Given the description of an element on the screen output the (x, y) to click on. 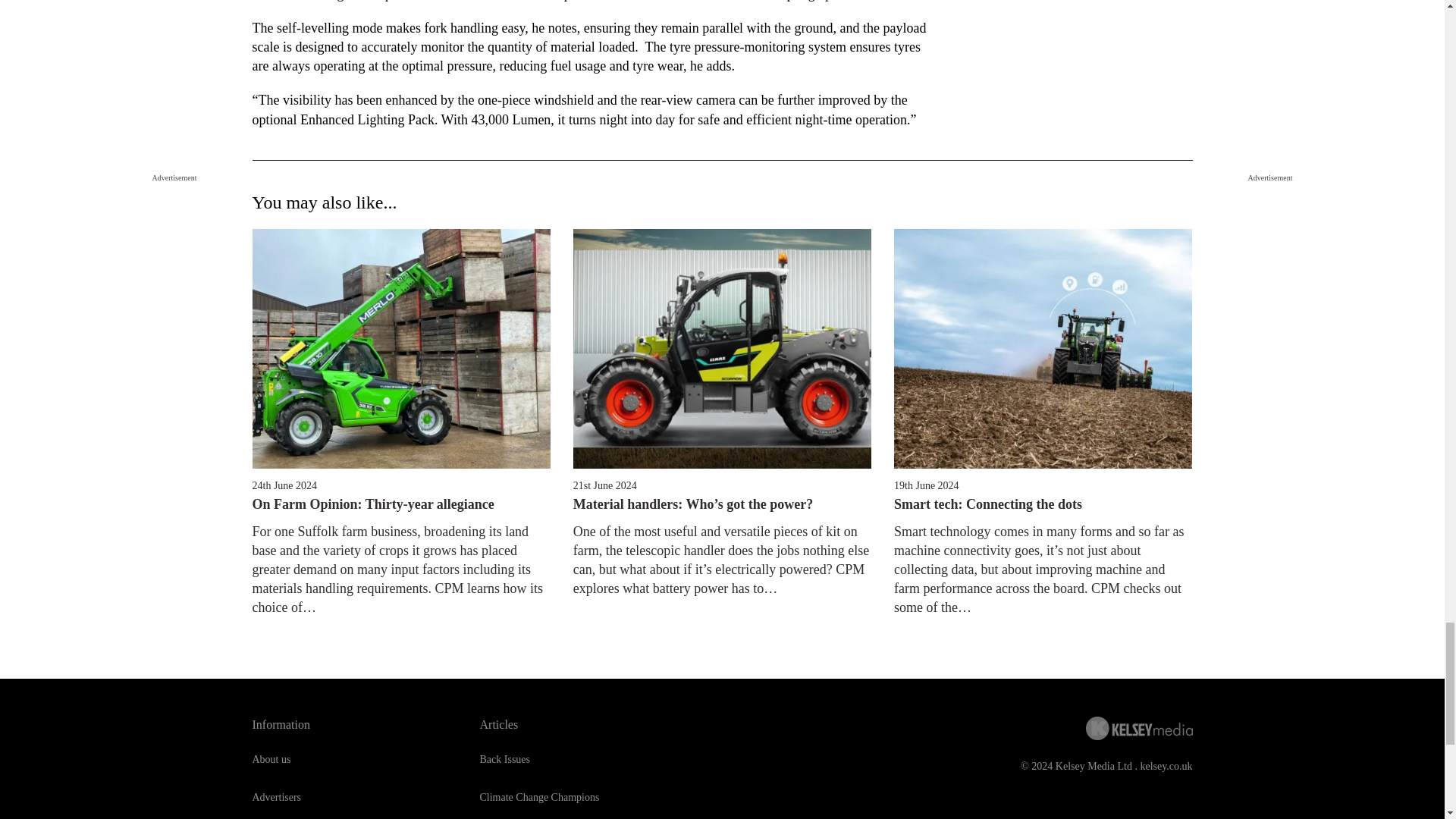
About us (270, 758)
Advertisers (276, 797)
